Given the description of an element on the screen output the (x, y) to click on. 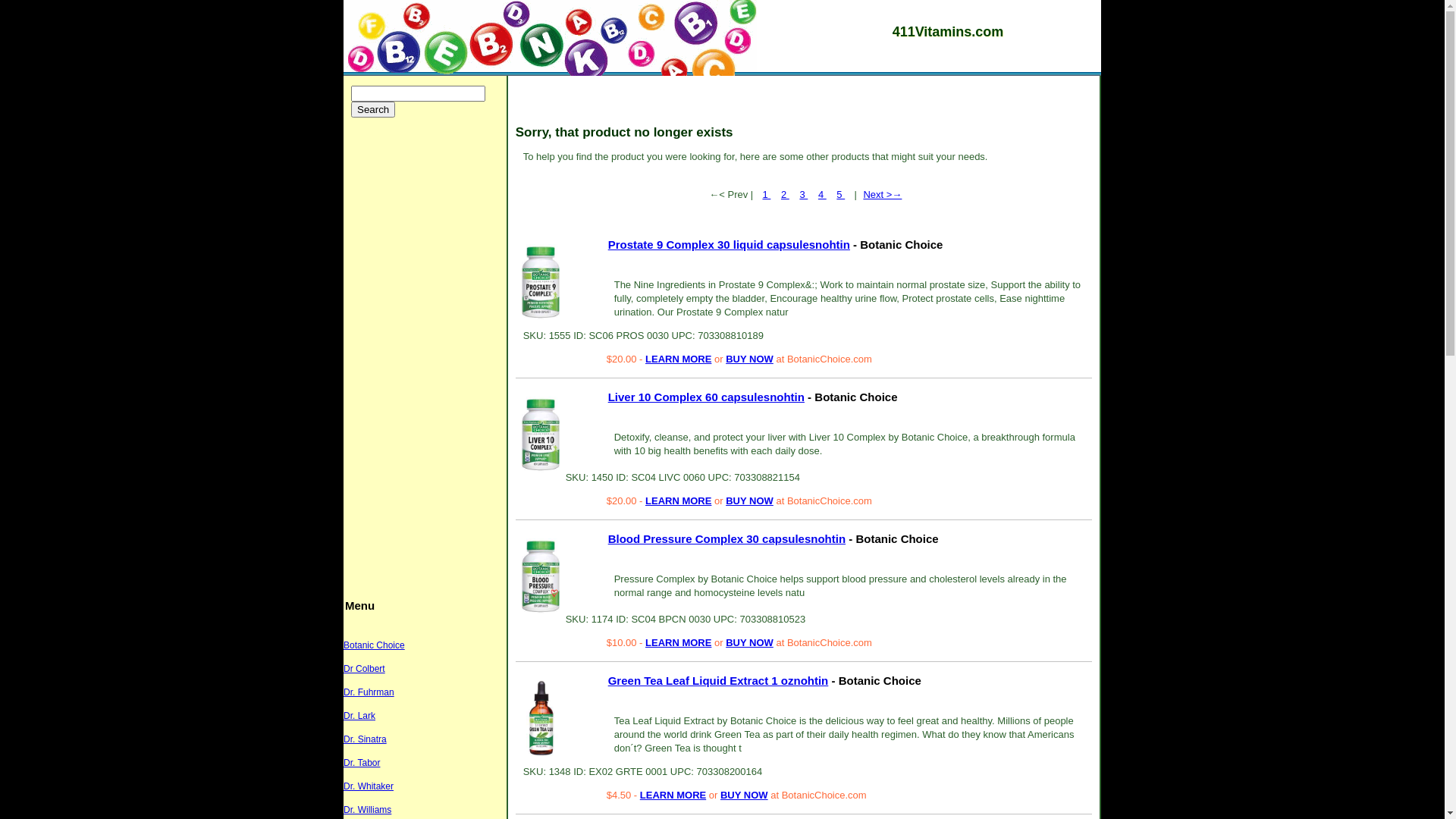
Prostate 9 Complex 30 liquid capsulesnohtin Element type: text (729, 244)
LEARN MORE Element type: text (678, 642)
Green Tea Leaf Liquid Extract 1 oznohtin Element type: hover (540, 718)
$20.00 Element type: text (622, 500)
$10.00 Element type: text (622, 642)
BUY NOW Element type: text (749, 358)
LEARN MORE Element type: text (678, 358)
Dr. Fuhrman Element type: text (368, 692)
$20.00 Element type: text (622, 358)
BUY NOW Element type: text (744, 794)
2 Element type: text (785, 194)
Advertisement Element type: hover (428, 354)
Advertisement Element type: hover (799, 103)
Dr Colbert Element type: text (364, 668)
5 Element type: text (840, 194)
Prostate 9 Complex 30 liquid capsulesnohtin Element type: hover (540, 282)
Botanic Choice Element type: text (373, 645)
4 Element type: text (822, 194)
Dr. Sinatra Element type: text (364, 739)
Dr. Whitaker Element type: text (368, 786)
Dr. Lark Element type: text (359, 715)
Liver 10 Complex 60 capsulesnohtin Element type: hover (540, 434)
$4.50 Element type: text (619, 794)
Blood Pressure Complex 30 capsulesnohtin Element type: hover (540, 576)
Dr. Williams Element type: text (367, 809)
BUY NOW Element type: text (749, 642)
BUY NOW Element type: text (749, 500)
Green Tea Leaf Liquid Extract 1 oznohtin Element type: text (718, 680)
Blood Pressure Complex 30 capsulesnohtin Element type: text (726, 538)
1 Element type: text (766, 194)
Liver 10 Complex 60 capsulesnohtin Element type: text (706, 396)
LEARN MORE Element type: text (673, 794)
Dr. Tabor Element type: text (361, 762)
3 Element type: text (803, 194)
LEARN MORE Element type: text (678, 500)
Search Element type: text (373, 109)
